Given the description of an element on the screen output the (x, y) to click on. 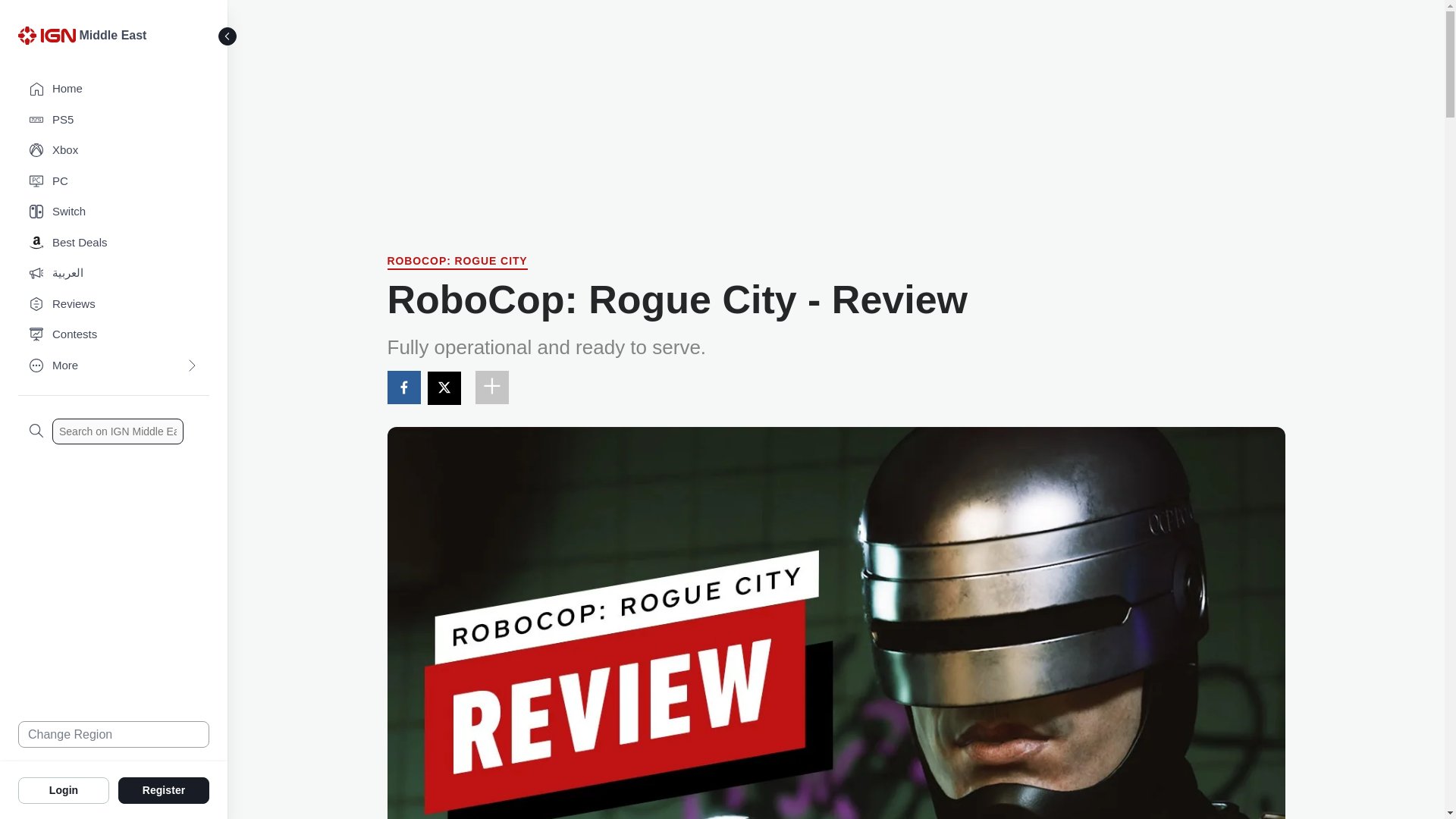
Contests (113, 334)
Register (163, 789)
More (113, 365)
Xbox (113, 150)
Reviews (113, 304)
PC (113, 181)
ROBOCOP: ROGUE CITY (457, 262)
IGN Logo (46, 34)
Toggle Sidebar (226, 36)
RoboCop: Rogue City (457, 262)
